Given the description of an element on the screen output the (x, y) to click on. 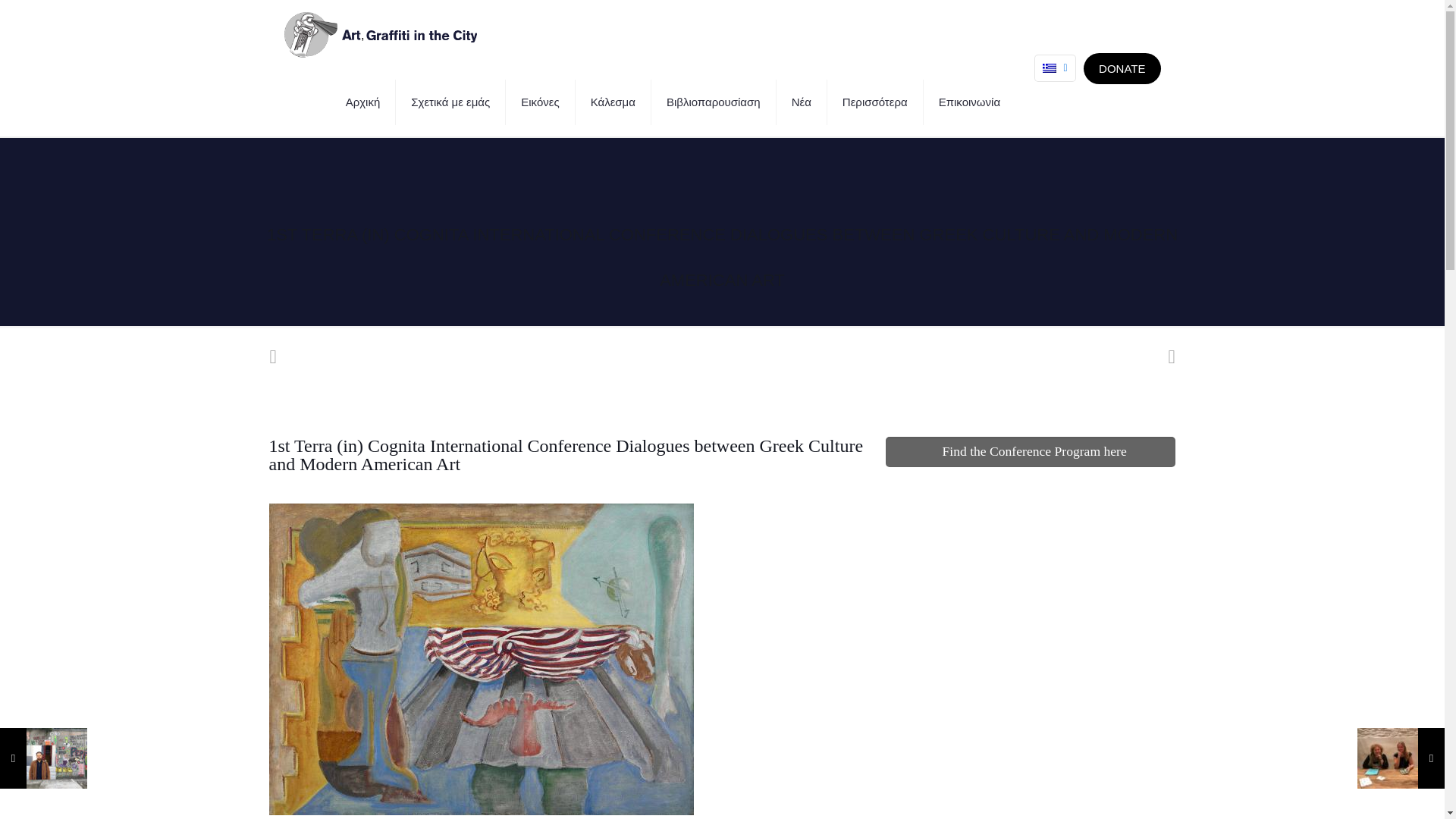
DONATE (1121, 68)
Art Graffiti in the City (379, 33)
